Given the description of an element on the screen output the (x, y) to click on. 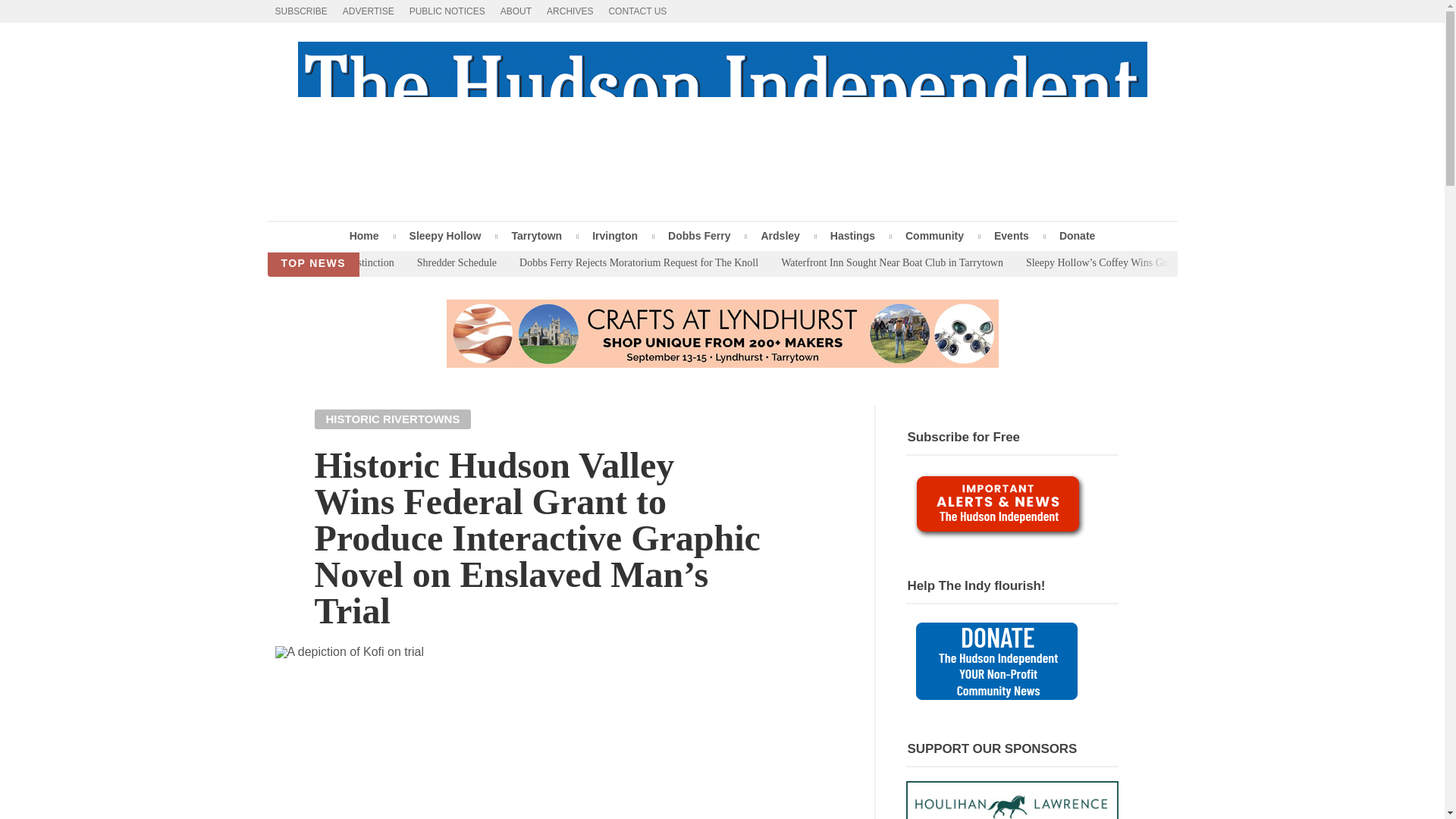
PUBLIC NOTICES (447, 11)
Events (1010, 235)
ARCHIVES (568, 11)
Tarrytown (536, 235)
Ardsley (780, 235)
Hastings (852, 235)
ADVERTISE (367, 11)
Community (934, 235)
Sleepy Hollow (445, 235)
